Given the description of an element on the screen output the (x, y) to click on. 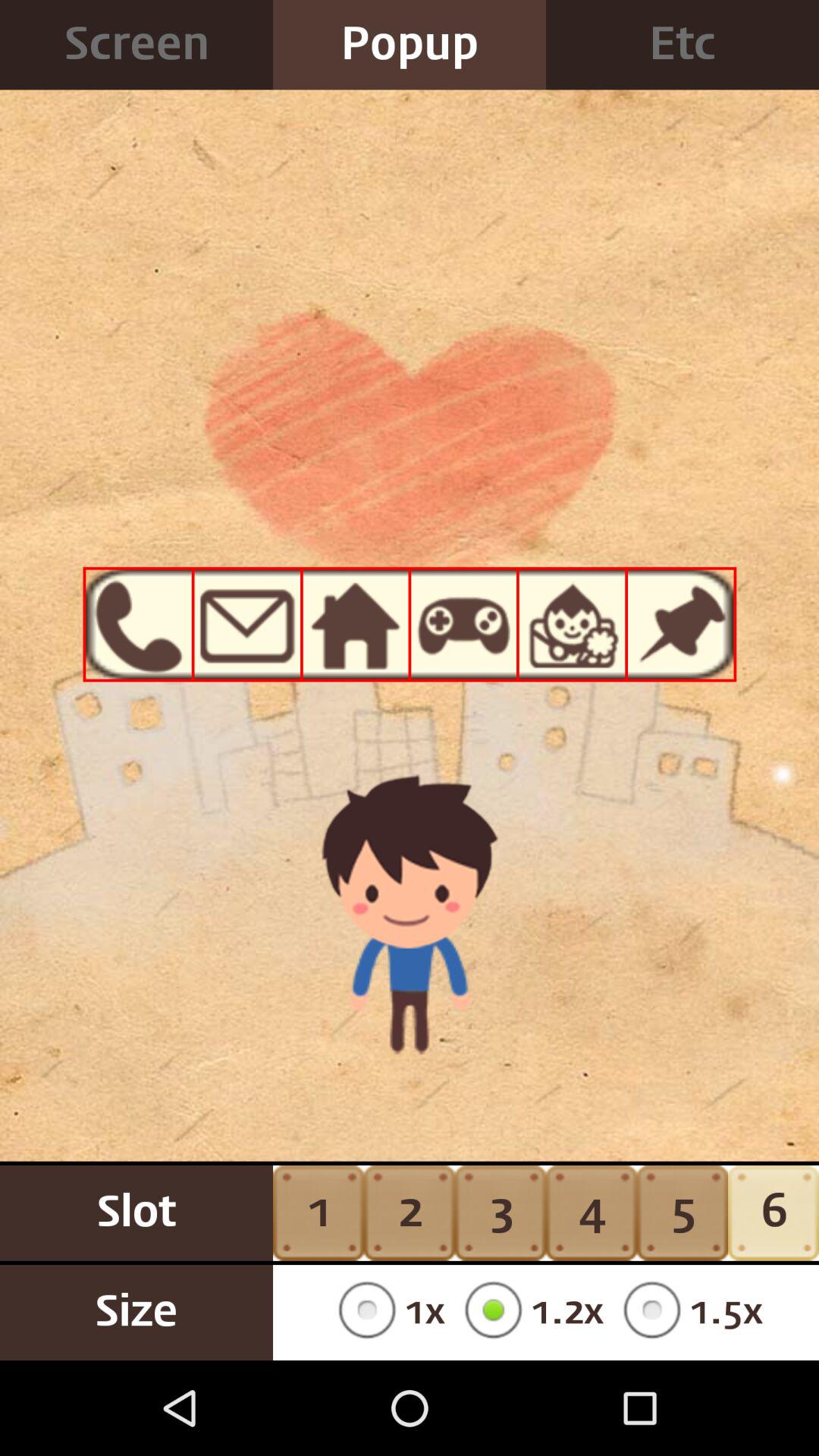
launch icon next to screen icon (409, 44)
